Given the description of an element on the screen output the (x, y) to click on. 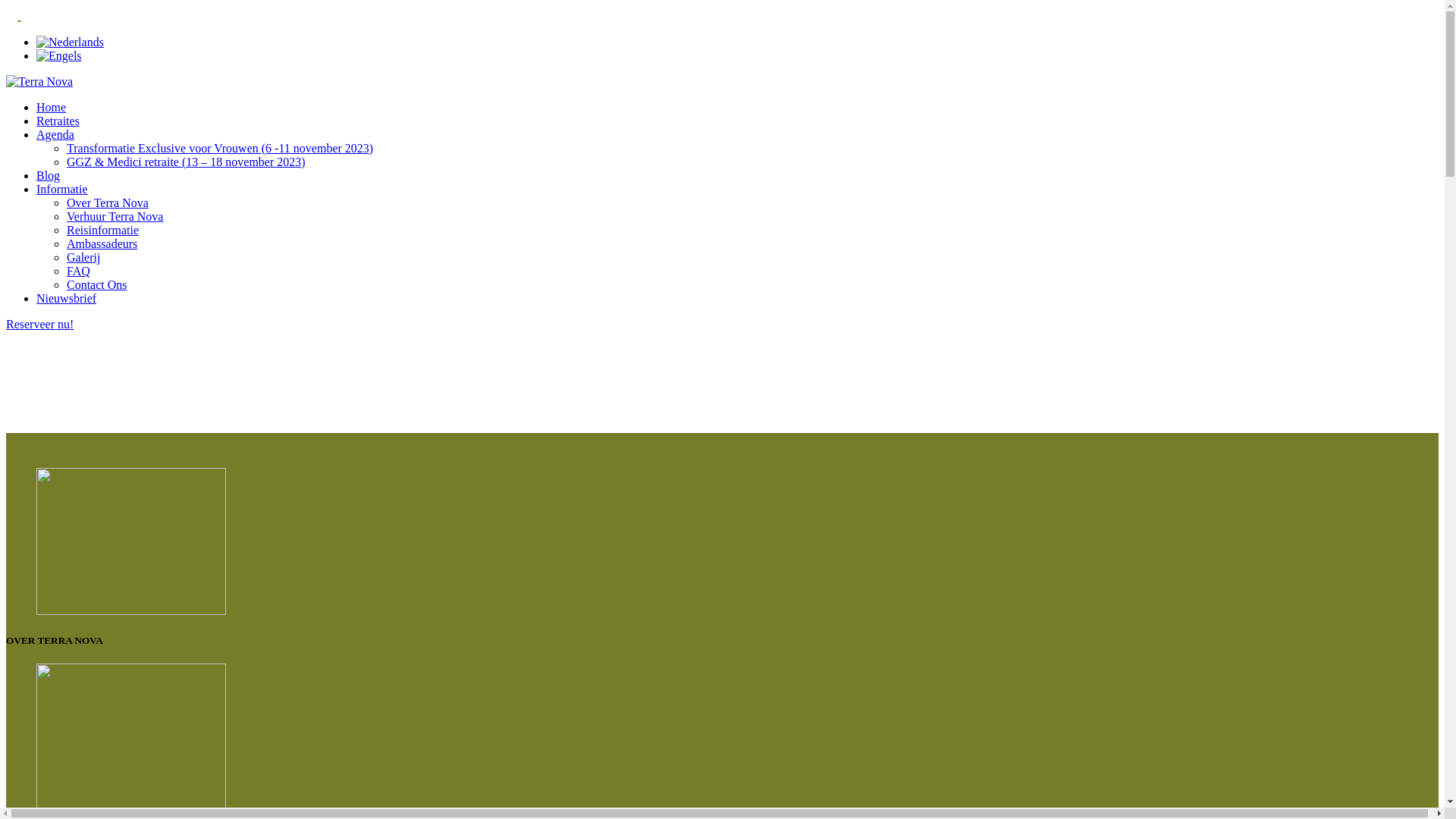
Contact Ons Element type: text (96, 284)
Retraites Element type: text (57, 120)
Retreites1 Element type: hover (130, 736)
Ambassadeurs Element type: text (101, 243)
Reserveer nu! Element type: text (39, 323)
Reisinformatie Element type: text (102, 229)
Informatie Element type: text (61, 188)
Galerij Element type: text (83, 257)
Agenda Element type: text (55, 134)
  Element type: text (19, 14)
Transformatie Exclusive voor Vrouwen (6 -11 november 2023) Element type: text (219, 147)
Over-terra-Nova1 Element type: hover (130, 541)
Nieuwsbrief Element type: text (66, 297)
Home Element type: text (50, 106)
FAQ Element type: text (78, 270)
Over Terra Nova Element type: text (107, 202)
Verhuur Terra Nova Element type: text (114, 216)
Blog Element type: text (47, 175)
